Given the description of an element on the screen output the (x, y) to click on. 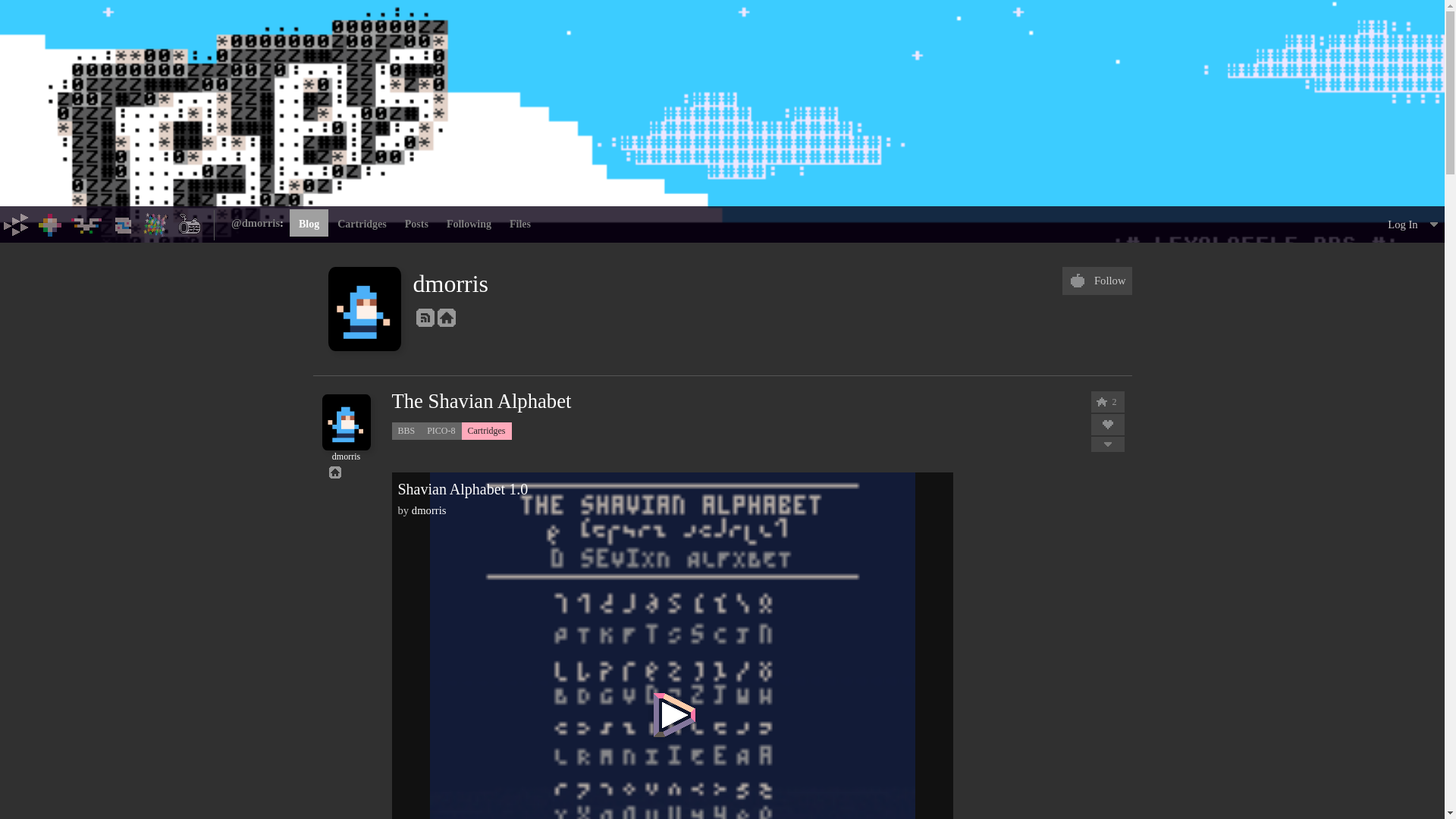
Voxatron (86, 223)
The Shavian Alphabet (480, 401)
Add to your favourites collection (1107, 424)
Lexaloffle Games (16, 223)
BBS (156, 223)
Picotron (122, 223)
PICO-8 (49, 223)
Give this post a star (1100, 401)
dmorris (345, 451)
Superblog (189, 223)
